Given the description of an element on the screen output the (x, y) to click on. 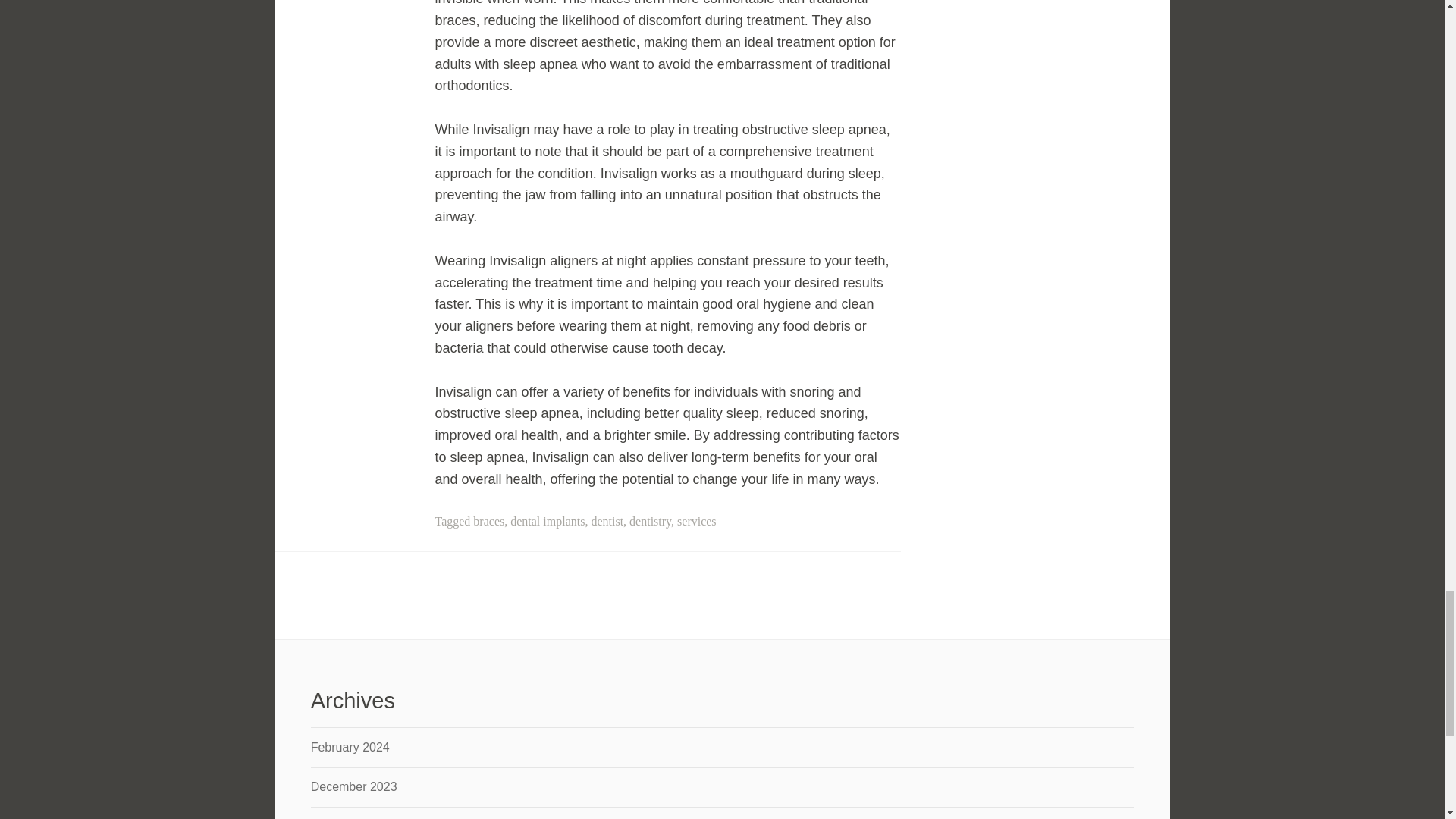
dentistry (649, 521)
February 2024 (350, 747)
services (696, 521)
dental implants (548, 521)
braces (488, 521)
dentist (607, 521)
December 2023 (354, 786)
